Given the description of an element on the screen output the (x, y) to click on. 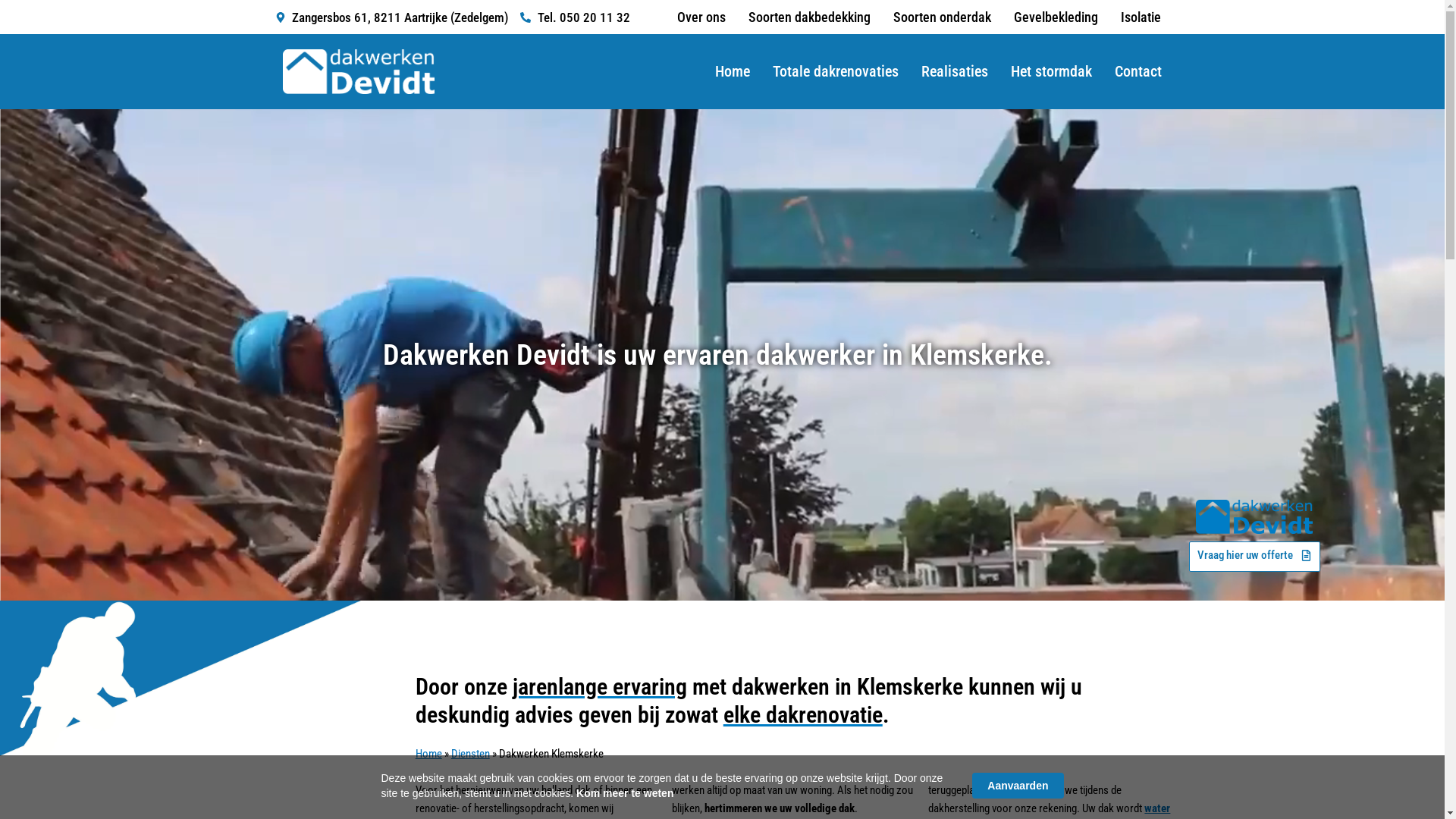
Contact Element type: text (1138, 71)
Home Element type: text (732, 71)
Dakwerken Klemskerke 1 Element type: hover (1254, 516)
Realisaties Element type: text (954, 71)
Soorten onderdak Element type: text (941, 16)
Soorten dakbedekking Element type: text (809, 16)
Het stormdak Element type: text (1051, 71)
Diensten Element type: text (470, 753)
Kom meer te weten Element type: text (624, 792)
Vraag hier uw offerte Element type: text (1254, 556)
Home Element type: text (428, 753)
Tel. 050 20 11 32 Element type: text (575, 16)
Totale dakrenovaties Element type: text (835, 71)
Gevelbekleding Element type: text (1055, 16)
Over ons Element type: text (701, 16)
Zangersbos 61, 8211 Aartrijke (Zedelgem) Element type: text (391, 16)
Isolatie Element type: text (1140, 16)
